Given the description of an element on the screen output the (x, y) to click on. 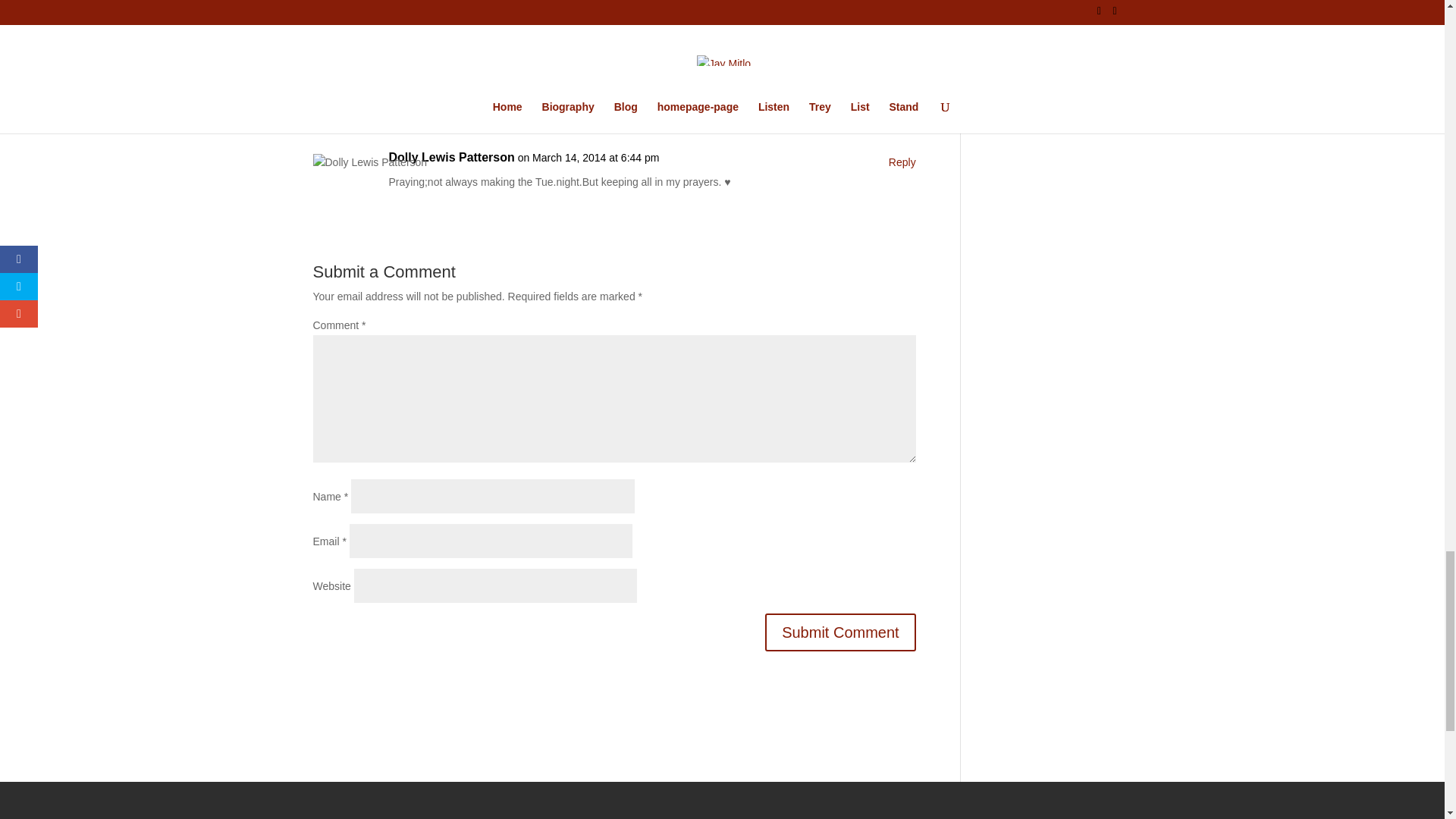
Reply (901, 60)
Submit Comment (840, 631)
Reply (901, 162)
Submit Comment (840, 631)
